Given the description of an element on the screen output the (x, y) to click on. 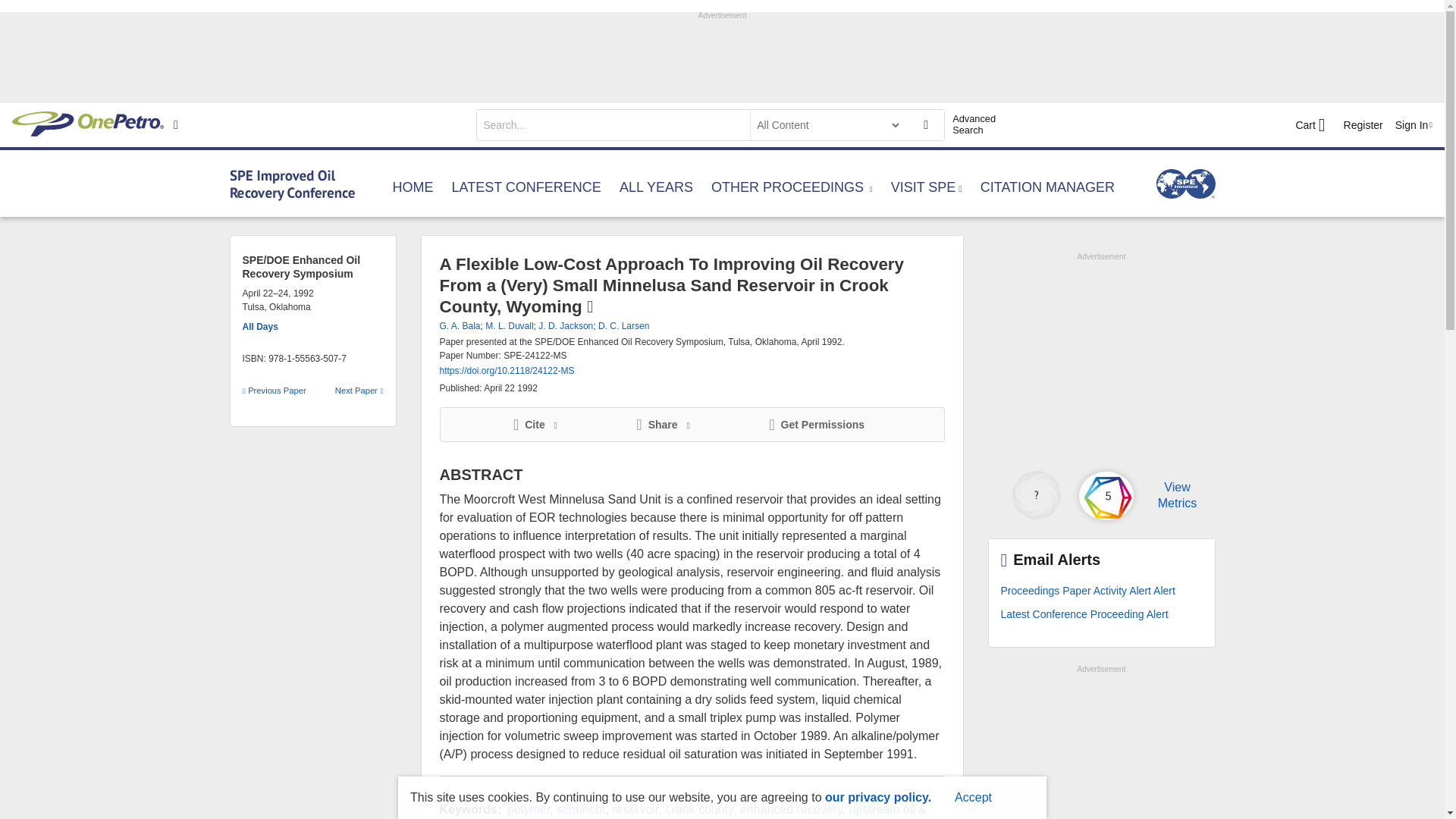
ALL YEARS (656, 189)
HOME (413, 189)
3rd party ad content (721, 56)
3rd party ad content (1100, 747)
Cart (1309, 125)
Advanced Search (979, 124)
LATEST CONFERENCE (526, 189)
3rd party ad content (1100, 358)
Available to Purchase (589, 306)
OTHER PROCEEDINGS (791, 189)
VISIT SPE (926, 189)
search input (611, 124)
Register (1363, 124)
CITATION MANAGER (1047, 189)
Sign In (1413, 124)
